Given the description of an element on the screen output the (x, y) to click on. 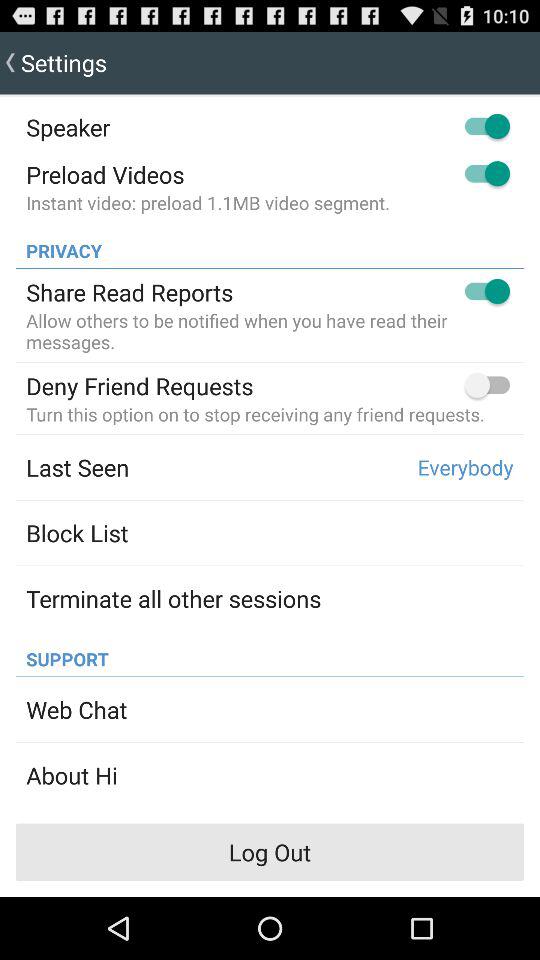
scroll to support item (61, 653)
